Given the description of an element on the screen output the (x, y) to click on. 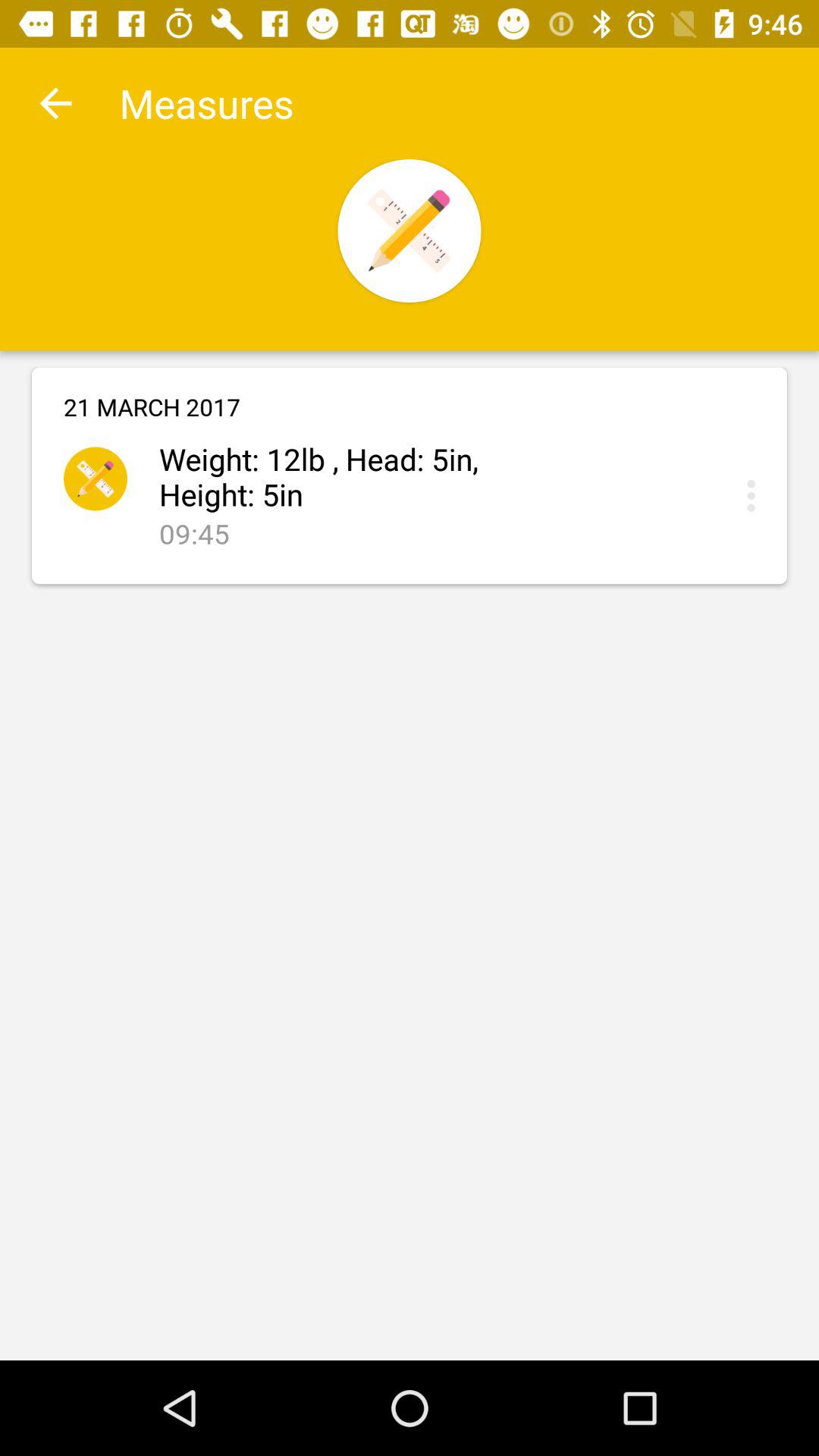
open options (755, 495)
